Given the description of an element on the screen output the (x, y) to click on. 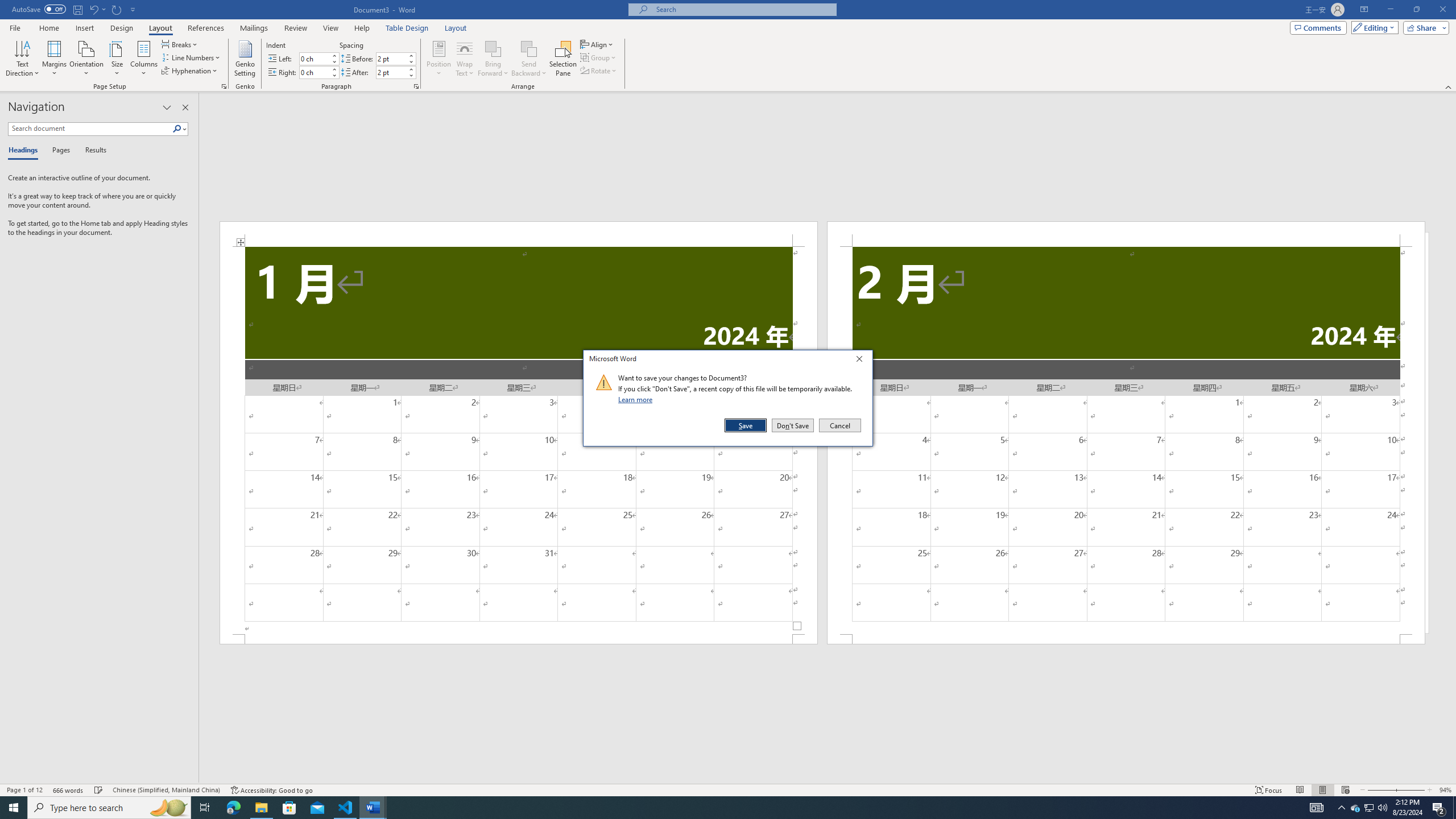
Line Numbers (191, 56)
Position (438, 58)
Spacing Before (391, 58)
Don't Save (792, 425)
